Given the description of an element on the screen output the (x, y) to click on. 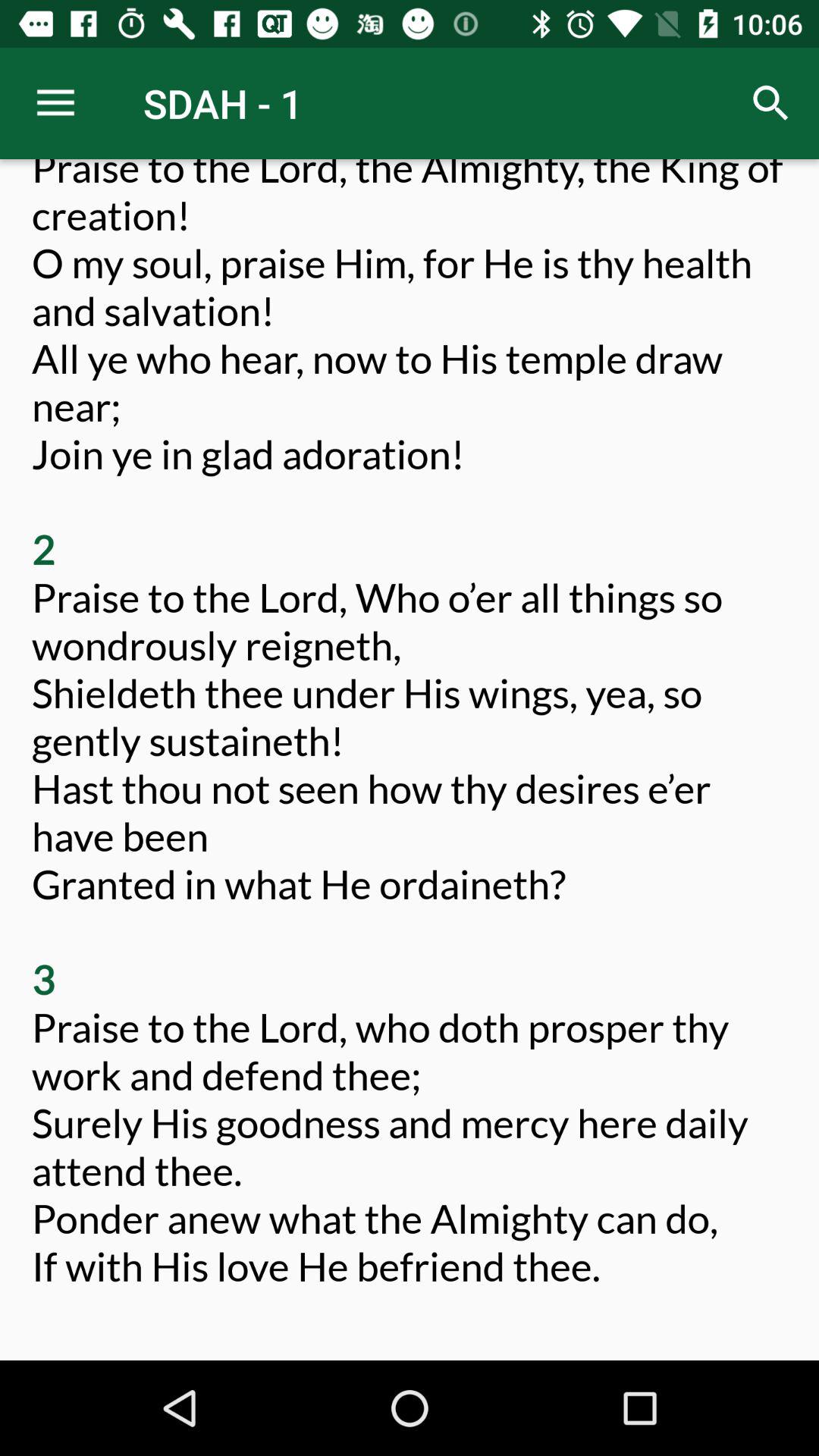
turn off the item next to the sdah - 1 icon (55, 103)
